Given the description of an element on the screen output the (x, y) to click on. 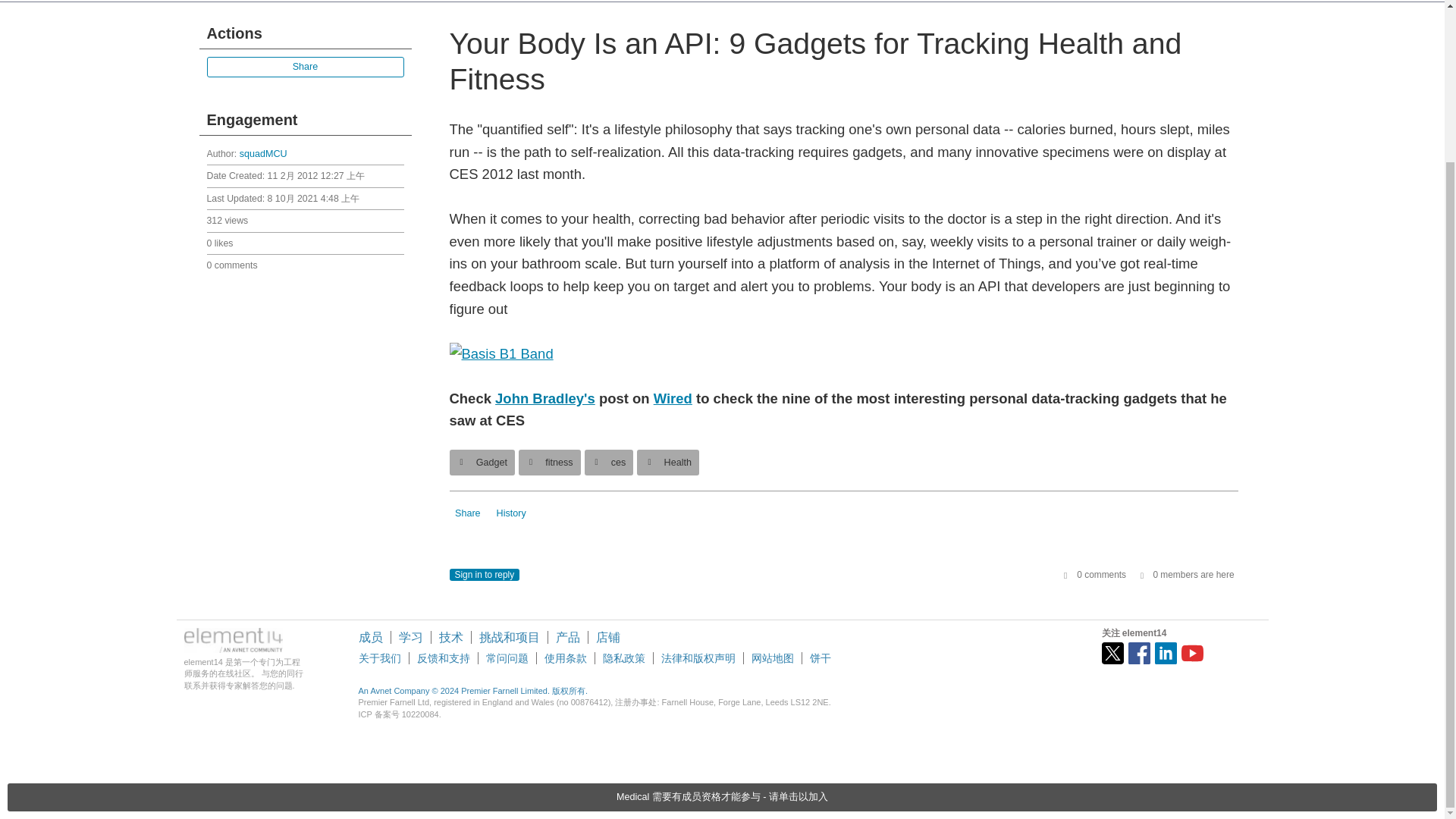
Posts by John Bradley (545, 398)
